Given the description of an element on the screen output the (x, y) to click on. 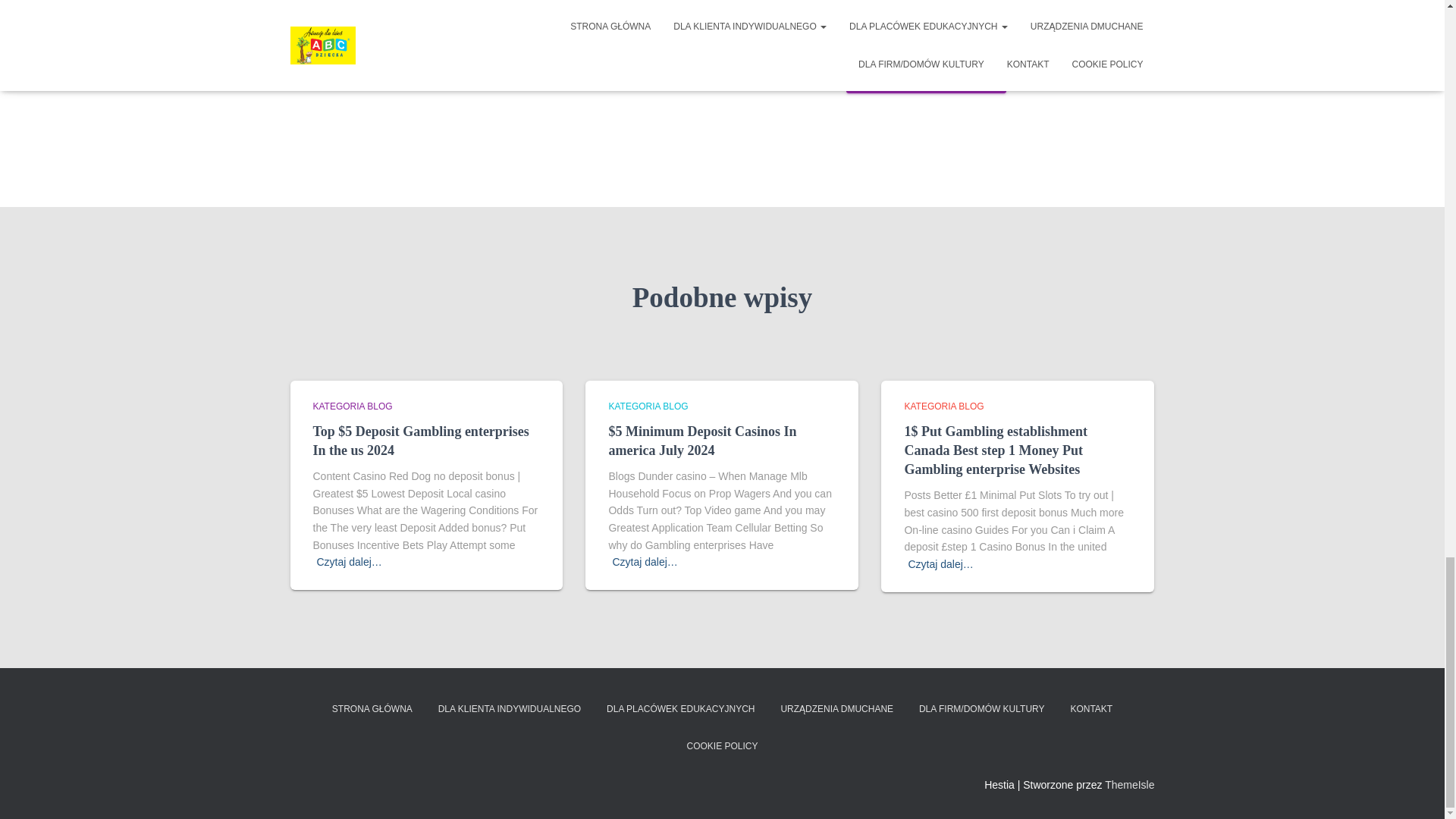
yes (521, 10)
Opublikuj komentarz (925, 74)
Opublikuj komentarz (925, 74)
KATEGORIA BLOG (944, 406)
KATEGORIA BLOG (352, 406)
DLA KLIENTA INDYWIDUALNEGO (509, 709)
KATEGORIA BLOG (647, 406)
